Given the description of an element on the screen output the (x, y) to click on. 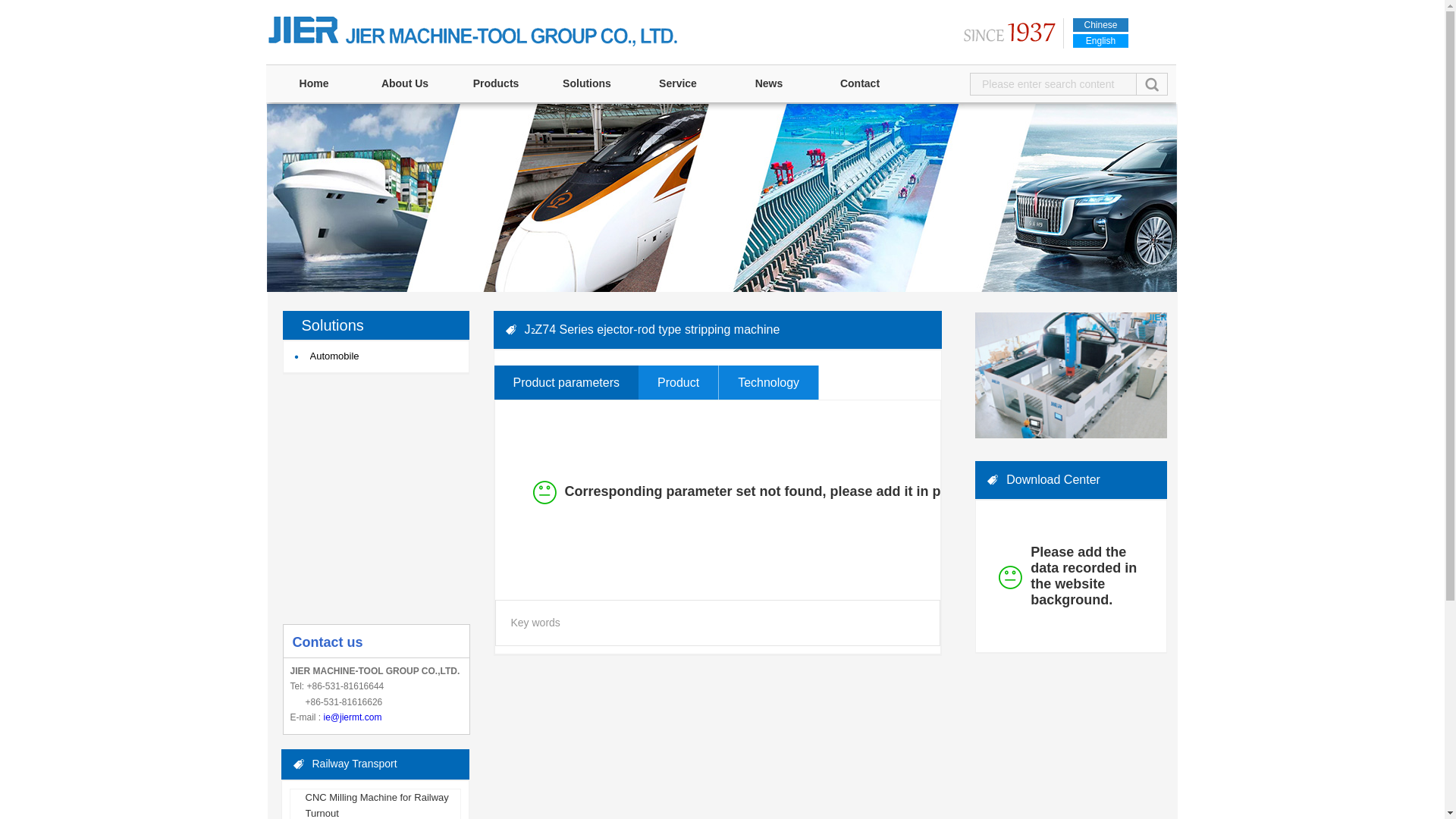
Solutions (586, 83)
Chinese (1100, 24)
chinese (1100, 24)
Home (314, 83)
English (1100, 40)
Contact (859, 83)
Automobile (378, 355)
English (1100, 40)
Service (678, 83)
About Us (404, 83)
News (769, 83)
Products (496, 83)
